Given the description of an element on the screen output the (x, y) to click on. 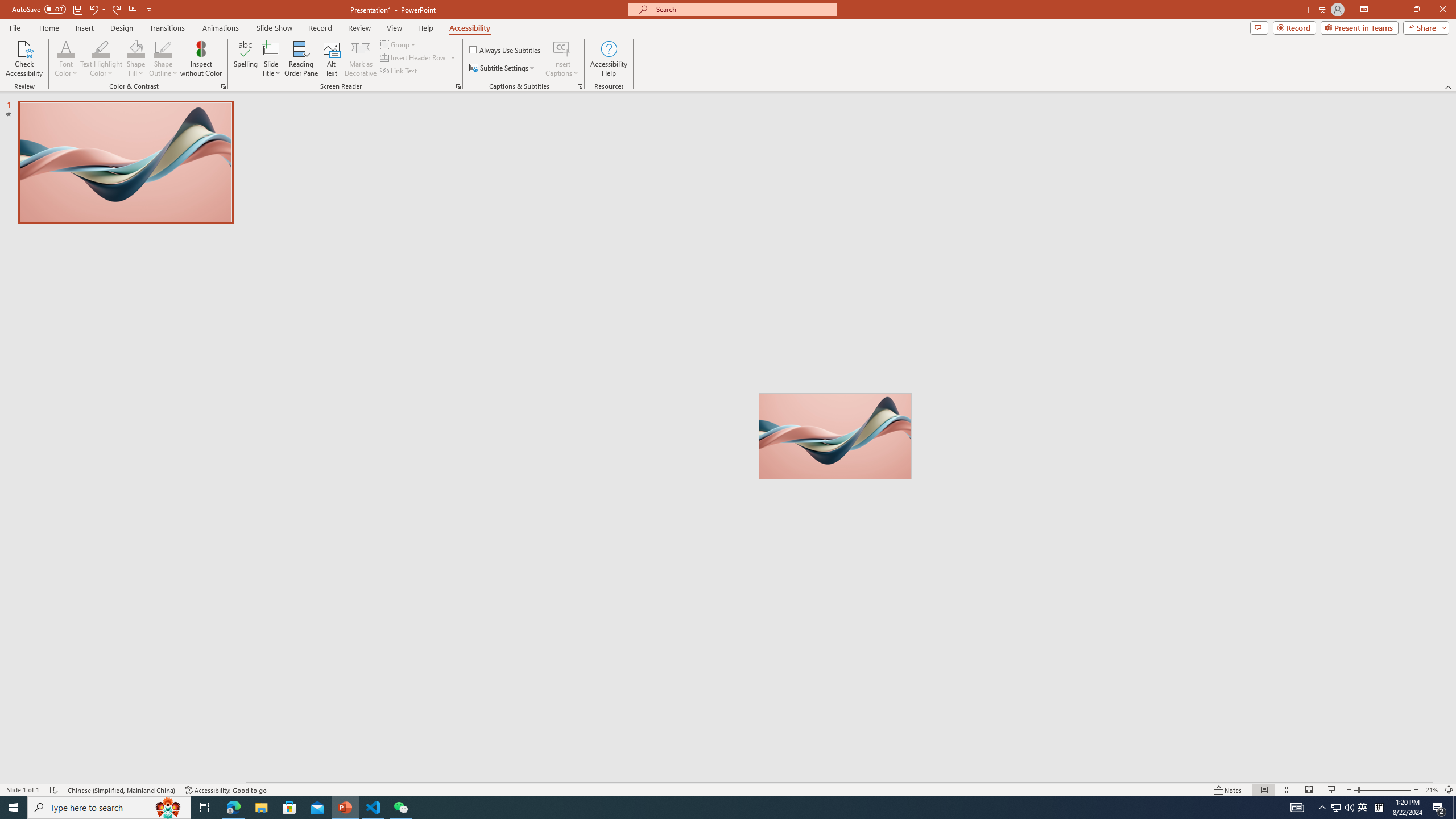
Screen Reader (458, 85)
Reading Order Pane (301, 58)
Always Use Subtitles (505, 49)
Insert Captions (561, 48)
Insert Header Row (418, 56)
